Given the description of an element on the screen output the (x, y) to click on. 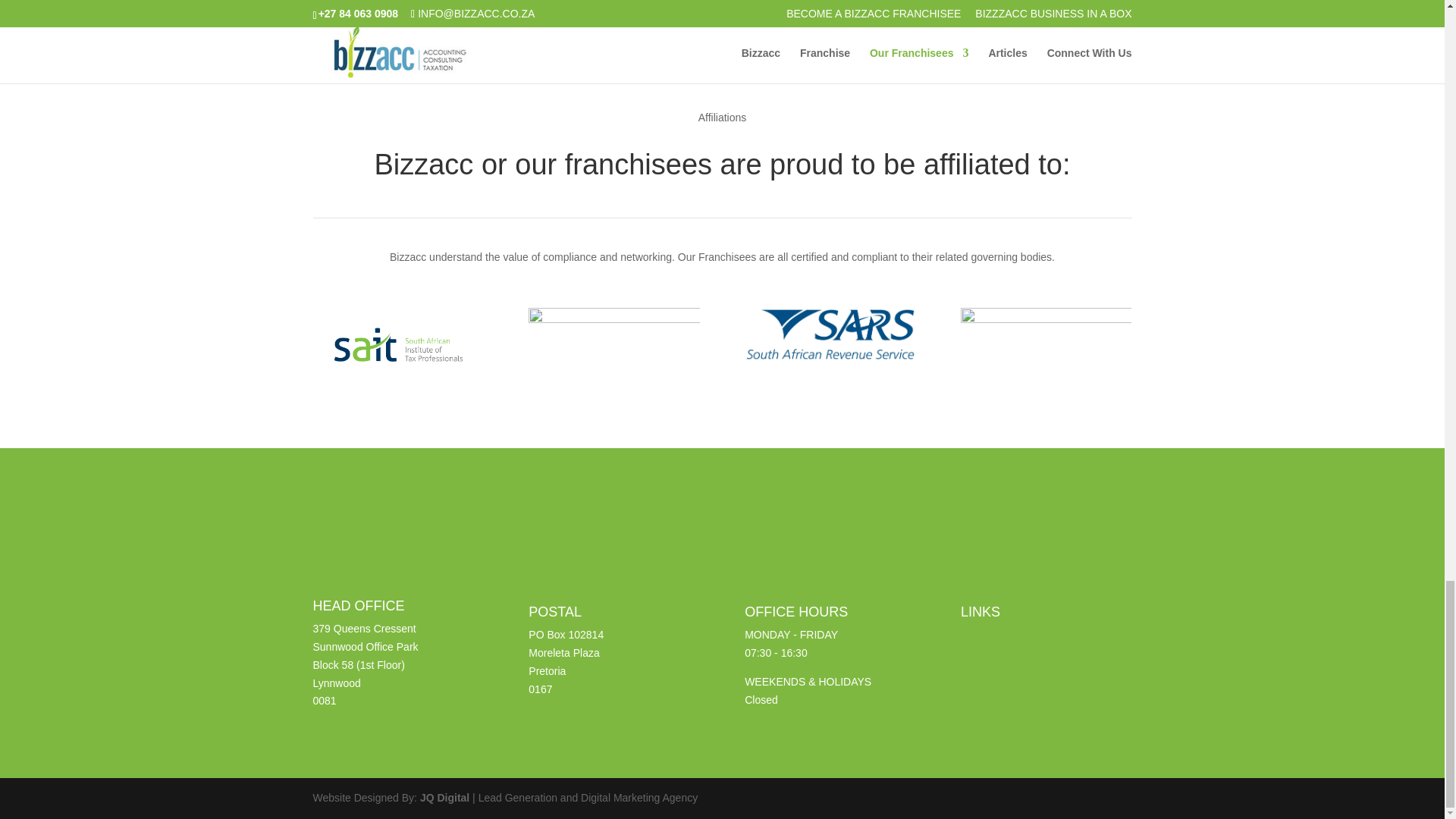
FRANCHISES (994, 653)
JQ Digital (444, 797)
BLOG (975, 671)
CONTACT (985, 706)
HOME (976, 634)
PRIVACY POLICY (1004, 689)
